Given the description of an element on the screen output the (x, y) to click on. 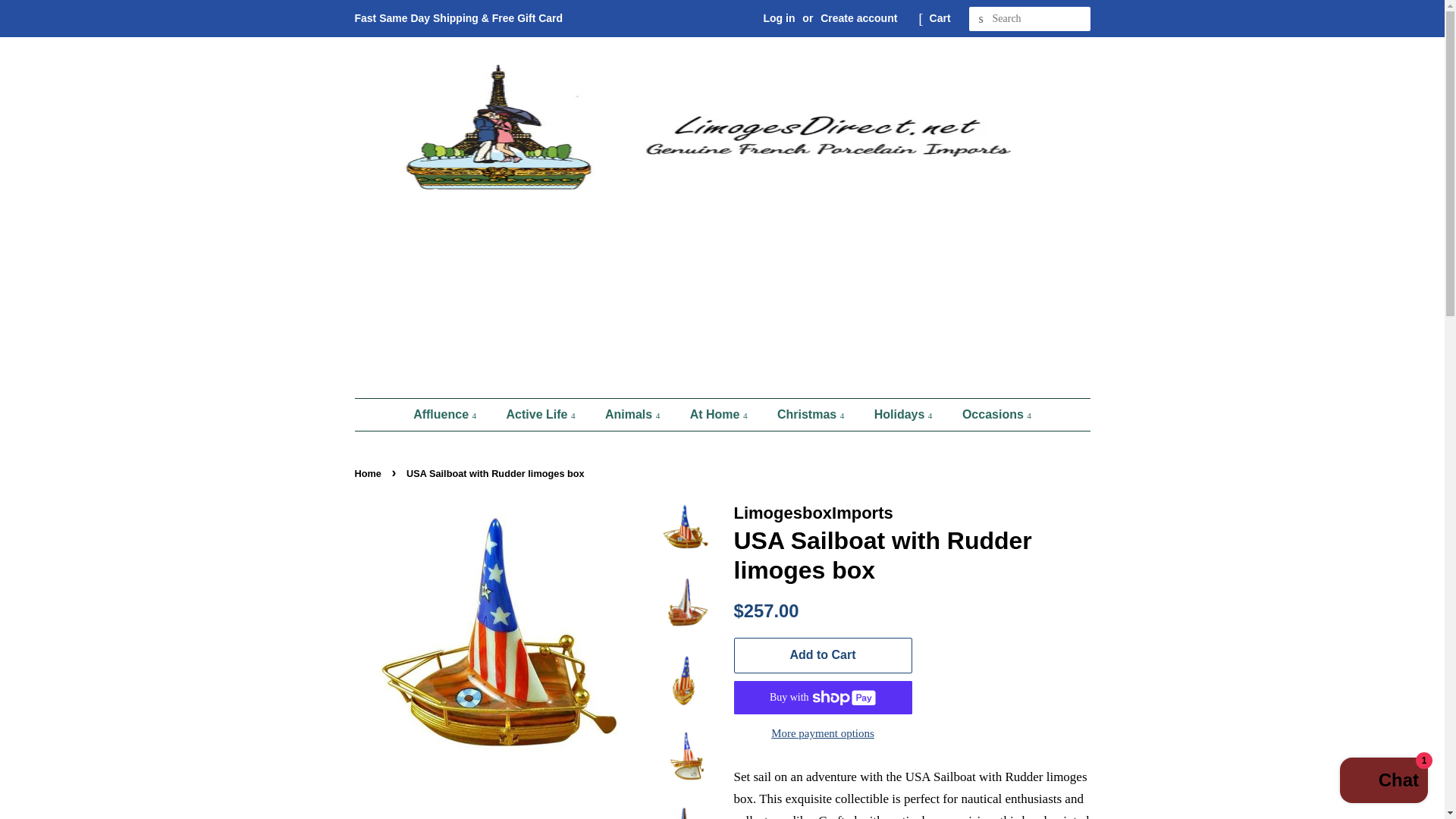
Cart (940, 18)
Create account (858, 18)
Back to the frontpage (370, 473)
Log in (778, 18)
Search (980, 18)
Shopify online store chat (1383, 781)
